Given the description of an element on the screen output the (x, y) to click on. 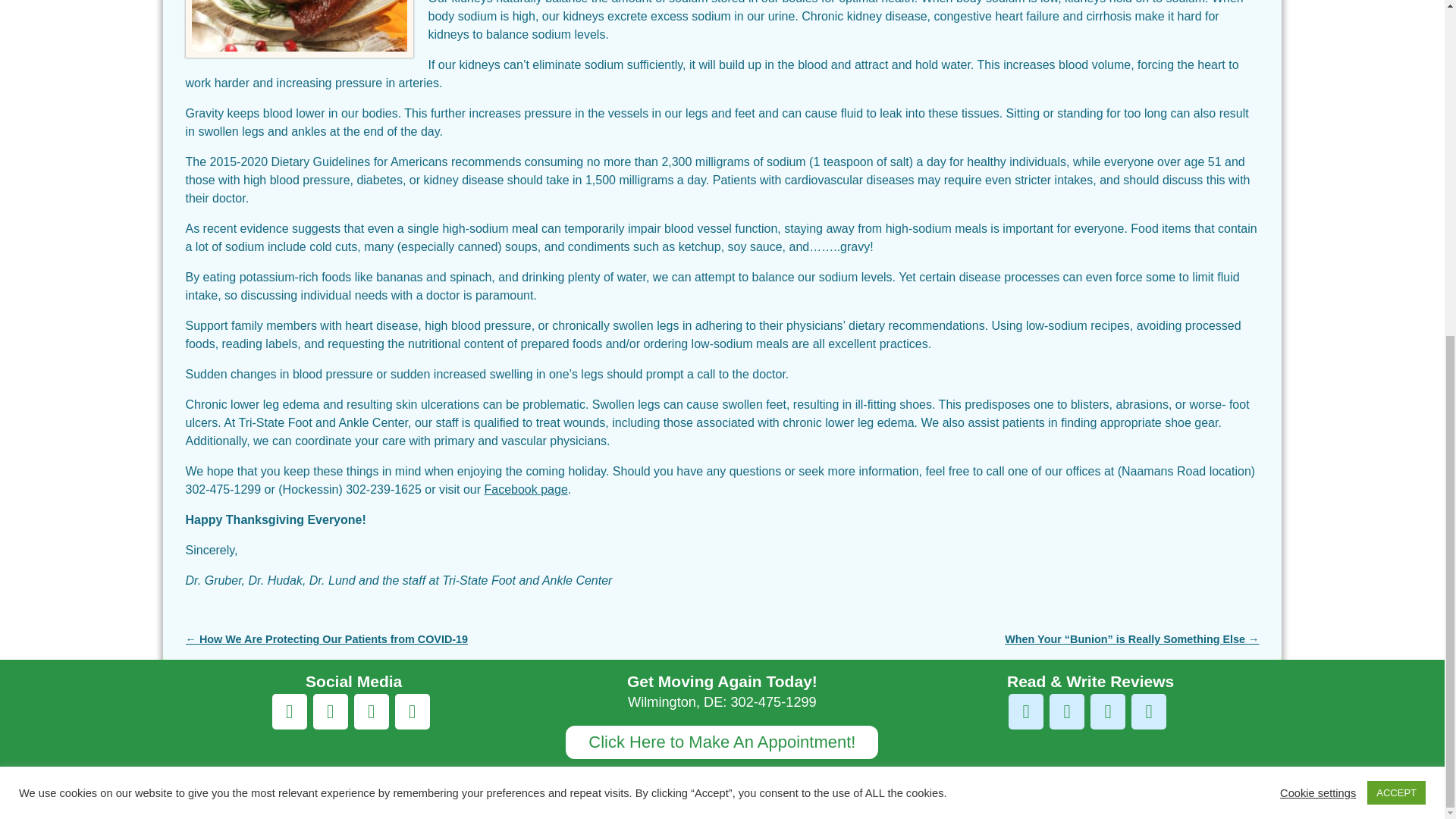
Yelp (1066, 711)
Twitter (330, 711)
Click Here to Make An Appointment! (721, 742)
Facebook (411, 711)
Facebook page (525, 489)
Facebook (289, 711)
Facebook (1026, 711)
Instagram (370, 711)
Facebook (1148, 711)
Tristate Foot and Ankle Center (283, 787)
